Given the description of an element on the screen output the (x, y) to click on. 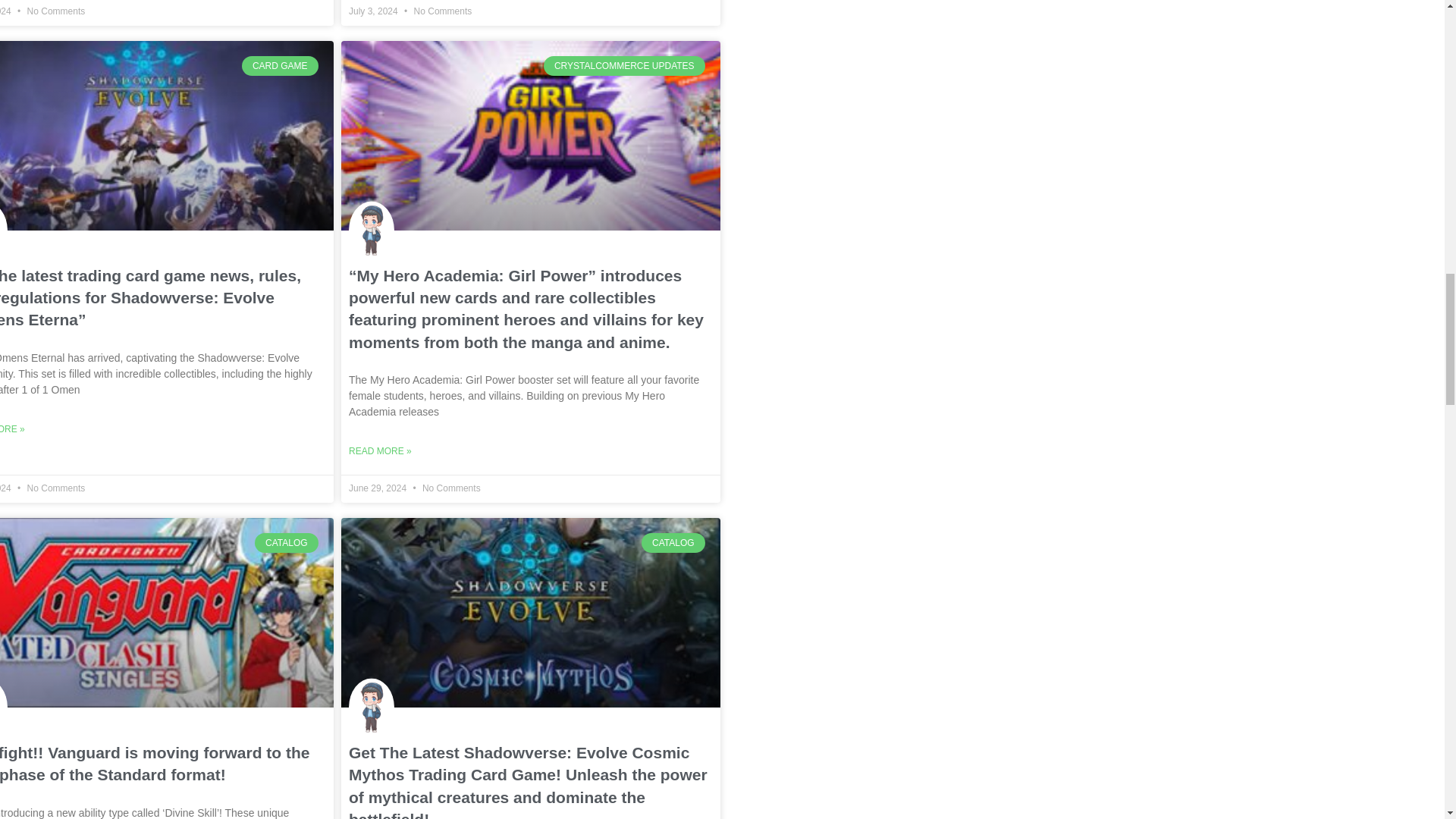
fb:page Facebook Social Plugin (863, 24)
